Given the description of an element on the screen output the (x, y) to click on. 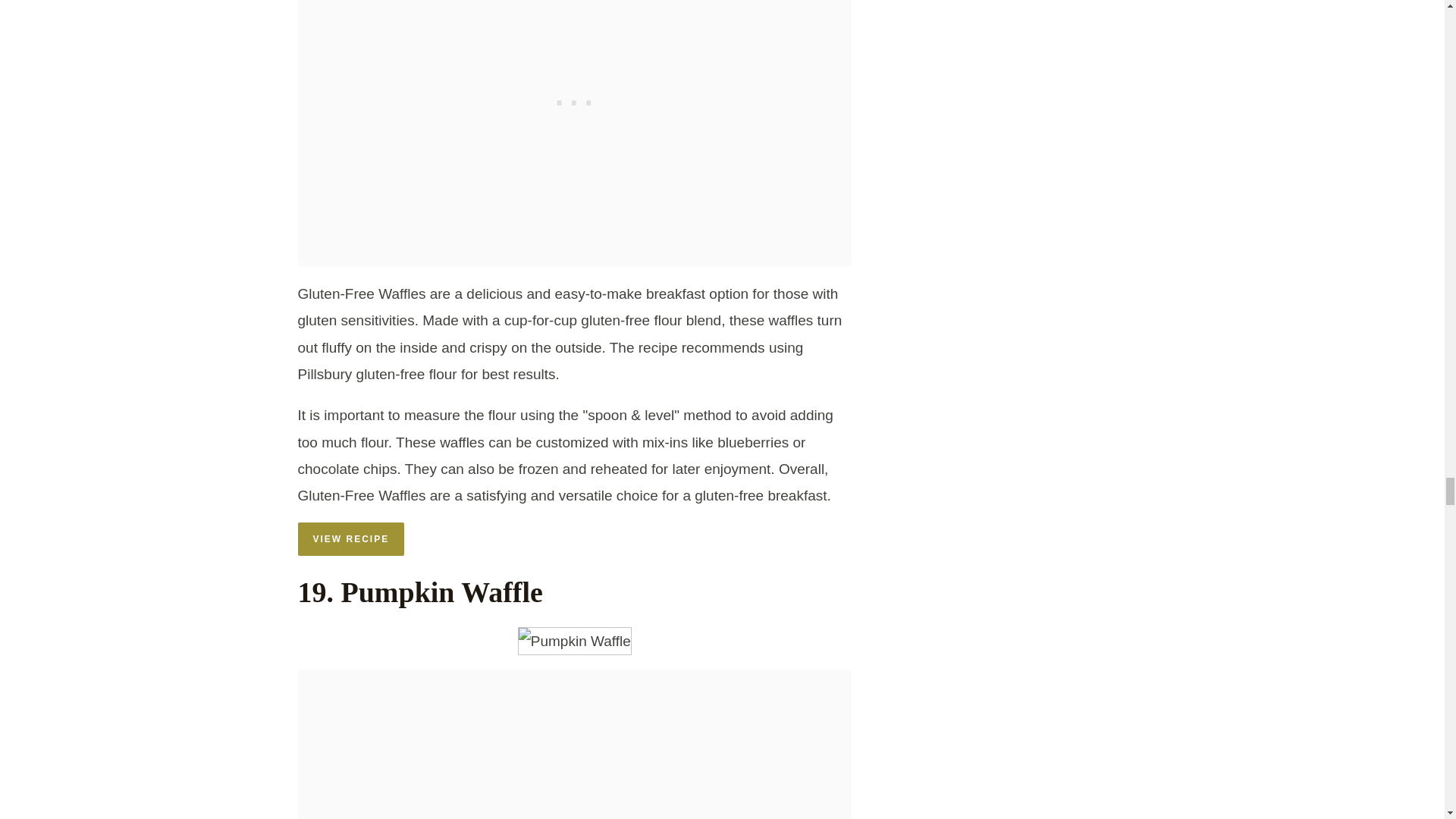
VIEW RECIPE (350, 539)
